Given the description of an element on the screen output the (x, y) to click on. 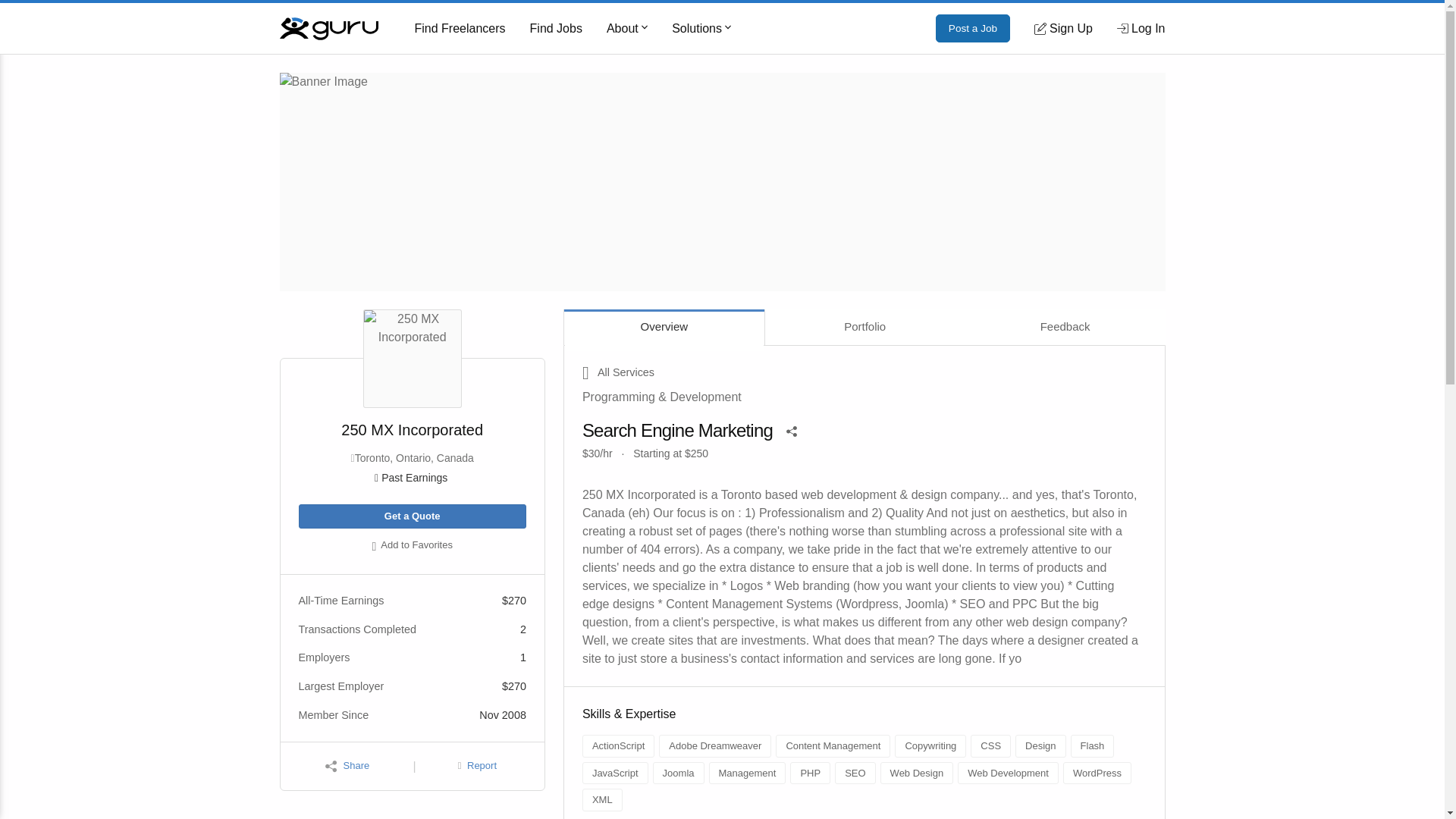
Find a Freelancer (459, 28)
Share (347, 766)
Add to Favorites (411, 546)
Report (477, 766)
Find Jobs (555, 28)
Log In (1140, 28)
Sign Up (1063, 28)
Get a Quote (411, 516)
Post a Job (973, 28)
Post a Job (973, 28)
Guru (328, 27)
Earnings in last 12 months (411, 477)
Find Freelancers (459, 28)
Find a Job (555, 28)
